Given the description of an element on the screen output the (x, y) to click on. 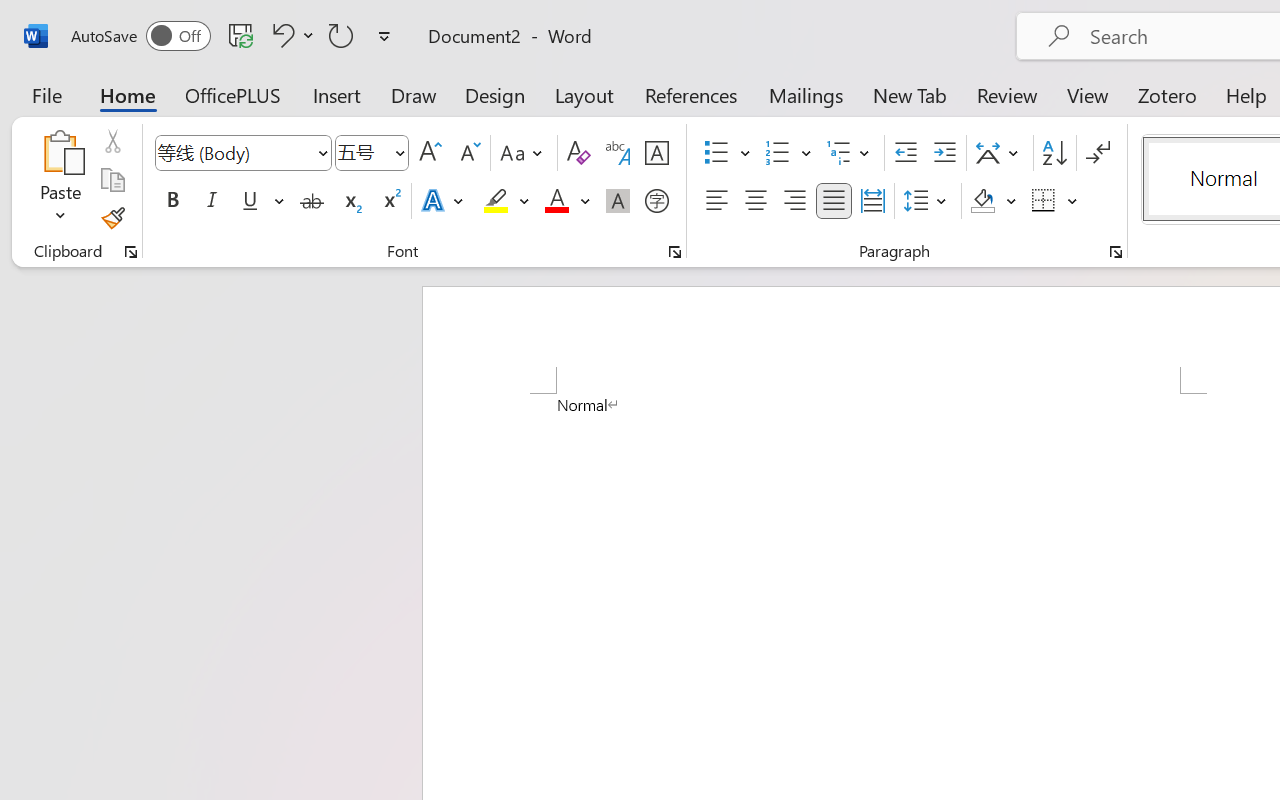
Font Size (362, 152)
Character Shading (618, 201)
